Given the description of an element on the screen output the (x, y) to click on. 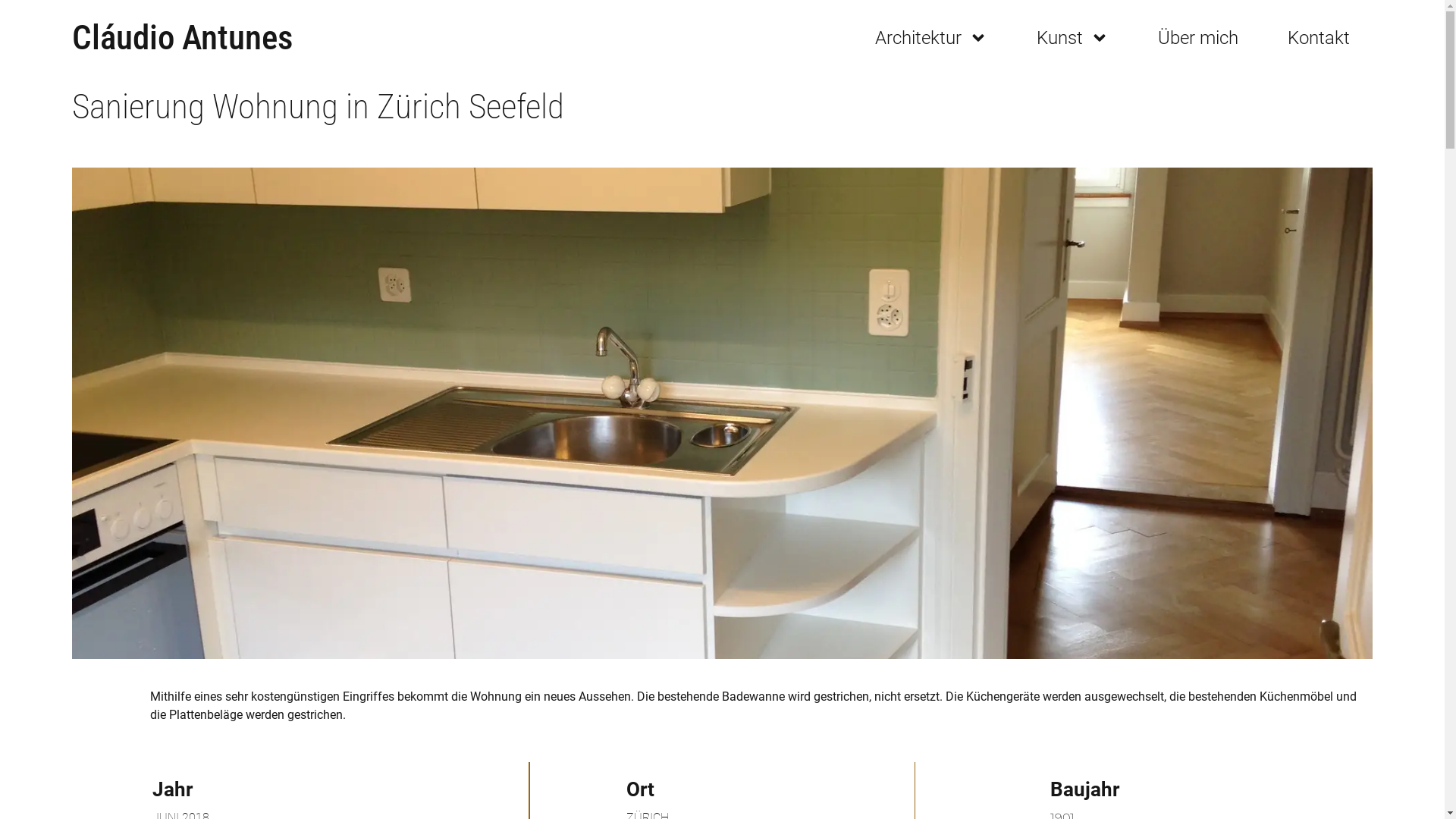
Kontakt Element type: text (1318, 37)
Architektur Element type: text (931, 37)
Kunst Element type: text (1072, 37)
